Given the description of an element on the screen output the (x, y) to click on. 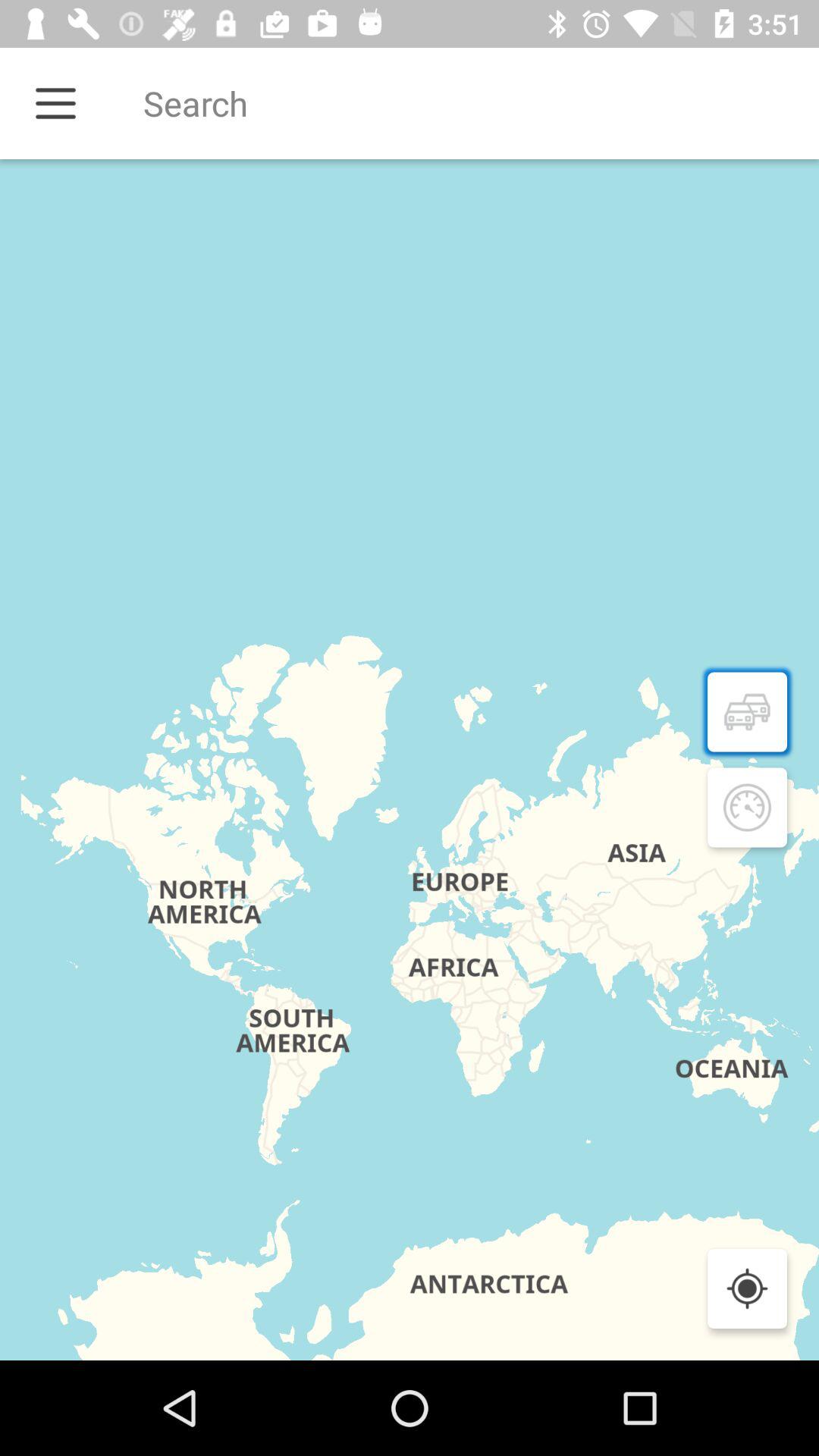
options (55, 103)
